Given the description of an element on the screen output the (x, y) to click on. 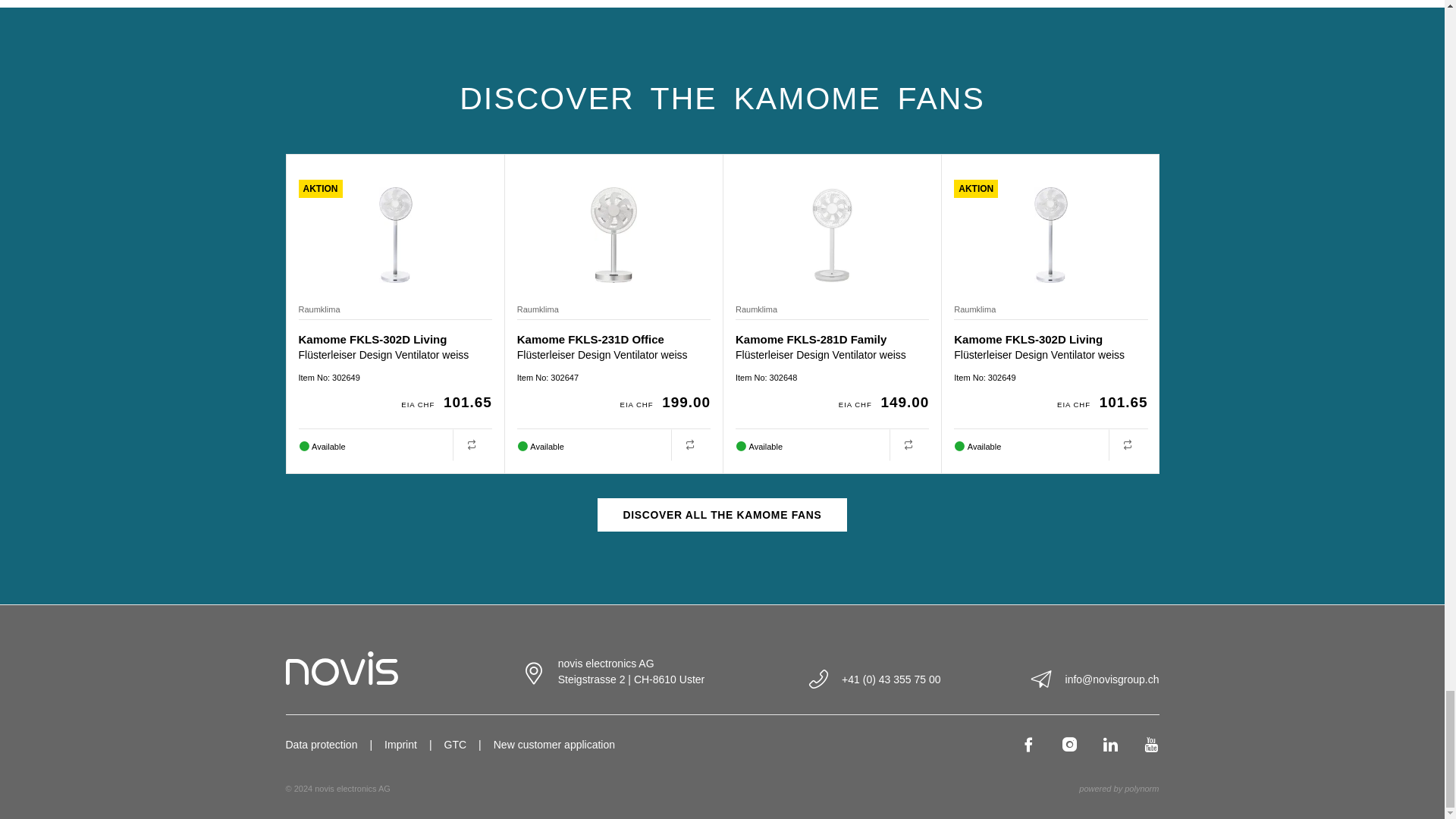
Available (302, 446)
Add to product comparison (690, 444)
Available (739, 446)
Add to product comparison (908, 444)
Add to product comparison (472, 444)
Available (520, 446)
